Given the description of an element on the screen output the (x, y) to click on. 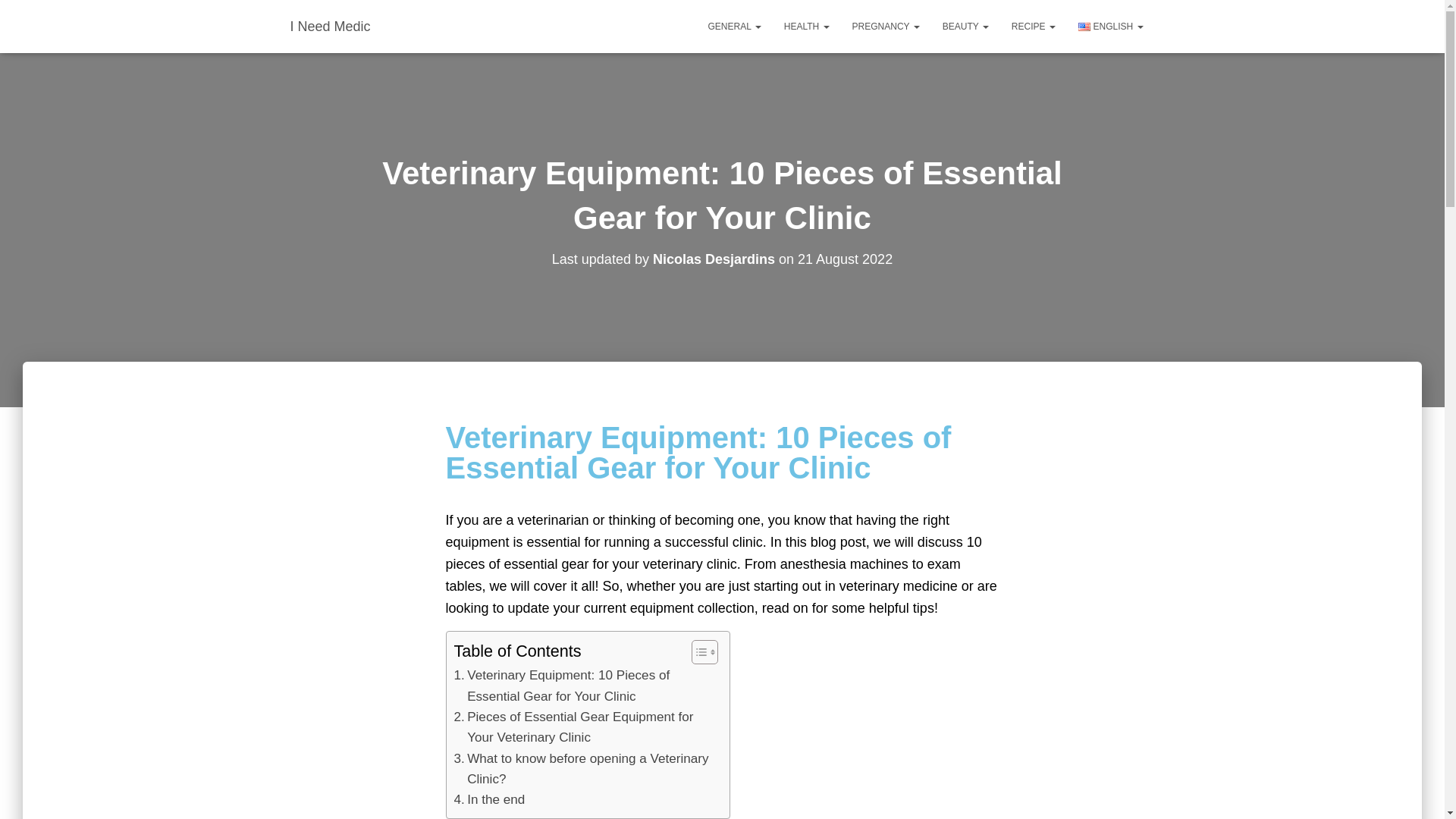
GENERAL (735, 26)
I Need Medic (330, 26)
Health (807, 26)
RECIPE (1033, 26)
General (735, 26)
ENGLISH (1110, 26)
BEAUTY (965, 26)
Nicolas Desjardins (713, 258)
PREGNANCY (886, 26)
I Need Medic (330, 26)
HEALTH (807, 26)
What to know before opening a Veterinary Clinic? (582, 769)
Pregnancy (886, 26)
